Given the description of an element on the screen output the (x, y) to click on. 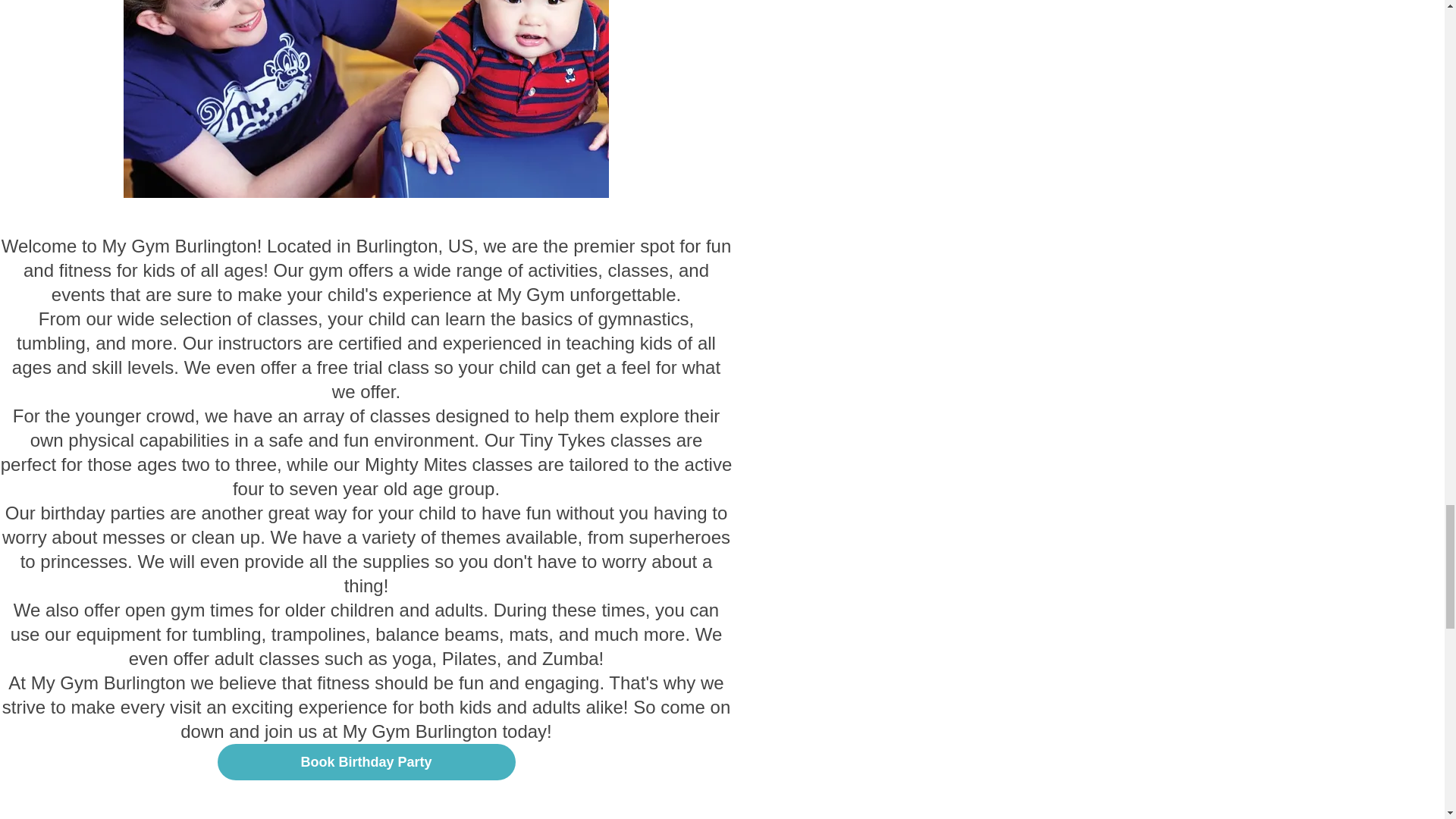
Book Birthday Party (365, 761)
